Given the description of an element on the screen output the (x, y) to click on. 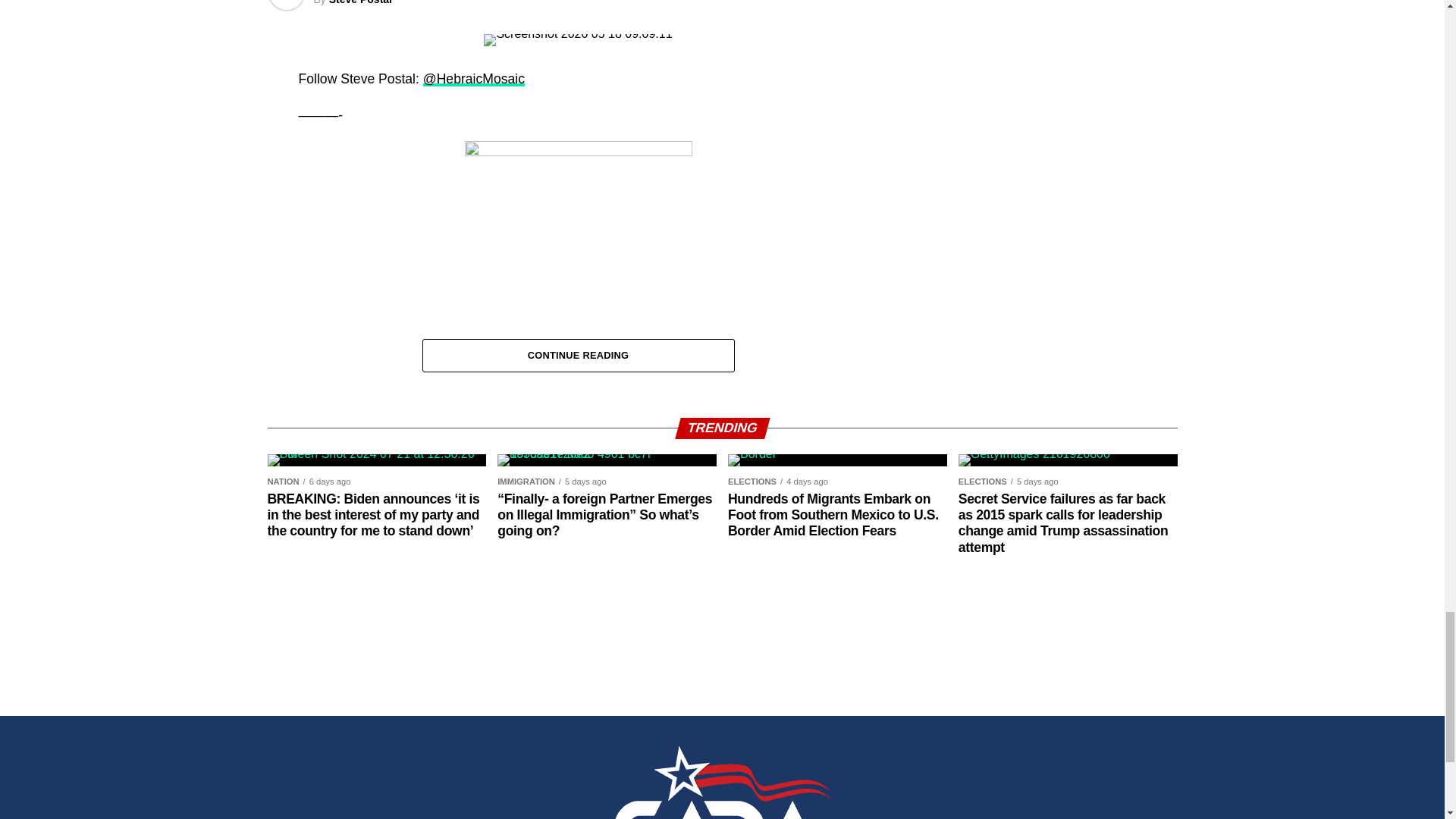
Japan Sounds Alarm on Growing Chinese and Russian Threats 2 (577, 33)
Posts by Steve Postal (360, 2)
